Given the description of an element on the screen output the (x, y) to click on. 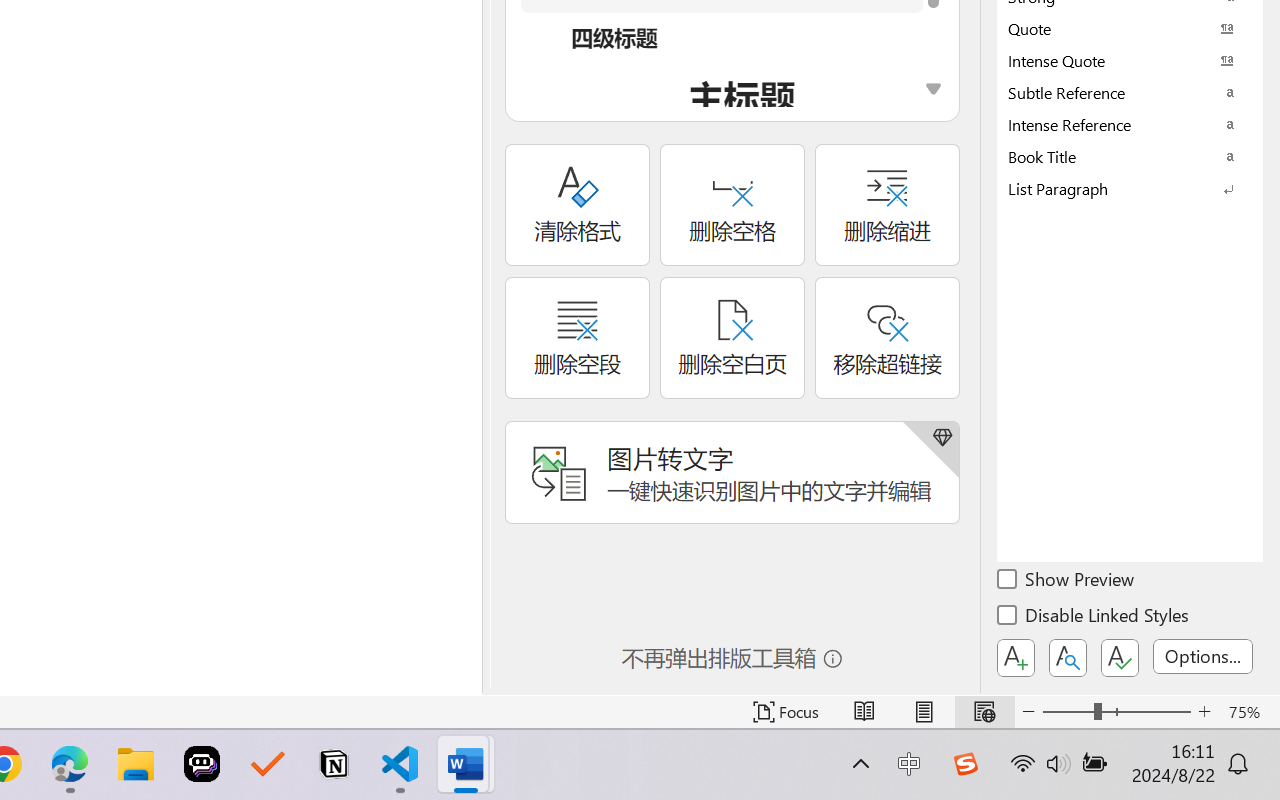
Focus  (786, 712)
Show Preview (1067, 582)
Options... (1203, 656)
Book Title (1130, 156)
Subtle Reference (1130, 92)
Intense Quote (1130, 60)
